Given the description of an element on the screen output the (x, y) to click on. 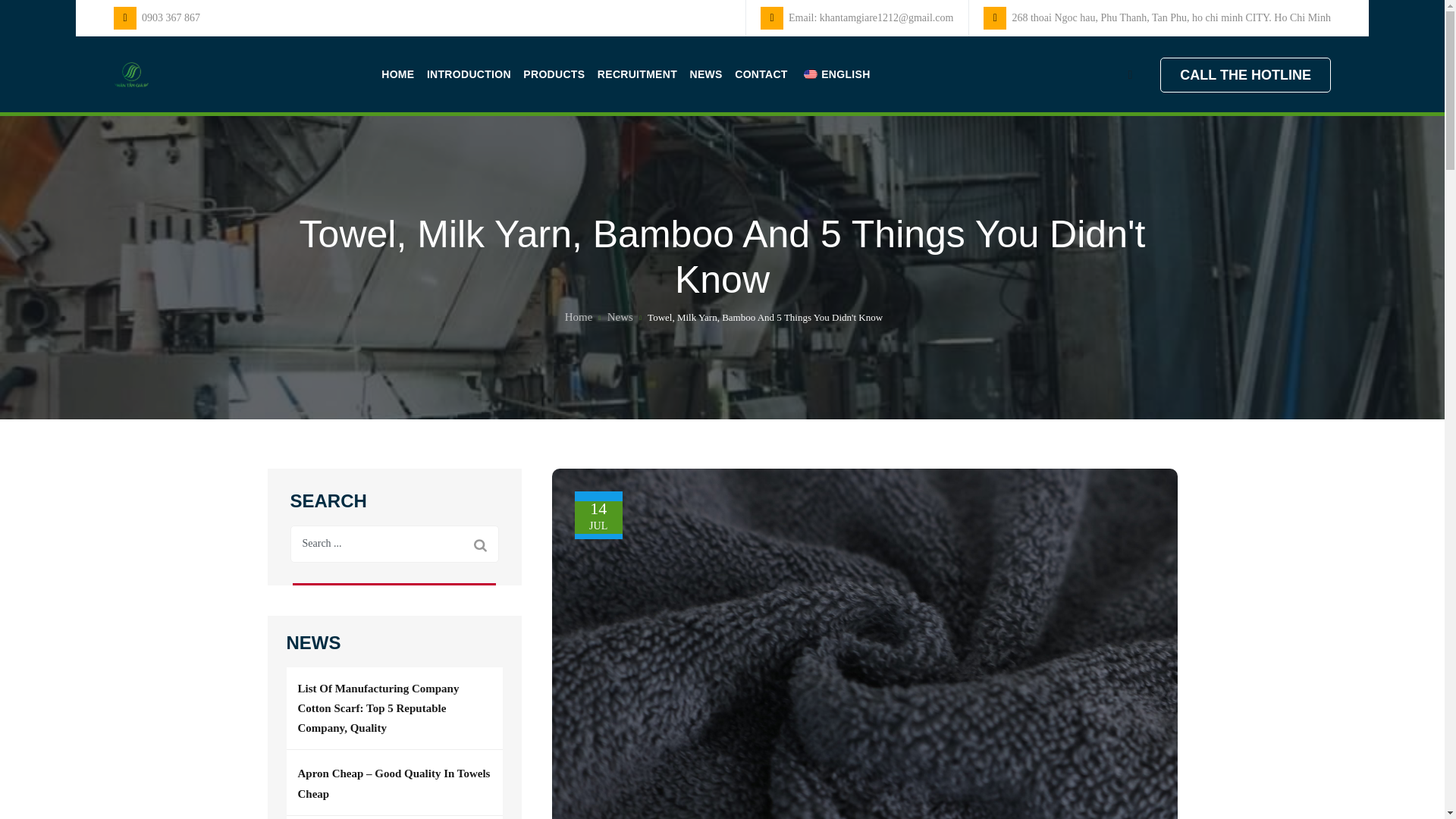
Search (480, 544)
Go to Bath Towels Cheap. (577, 316)
INTRODUCTION (469, 74)
English (809, 73)
Search (480, 544)
0903 367 867 (170, 17)
Go to the News Category archives. (620, 316)
PRODUCTS (553, 74)
CALL THE HOTLINE (1245, 74)
